Given the description of an element on the screen output the (x, y) to click on. 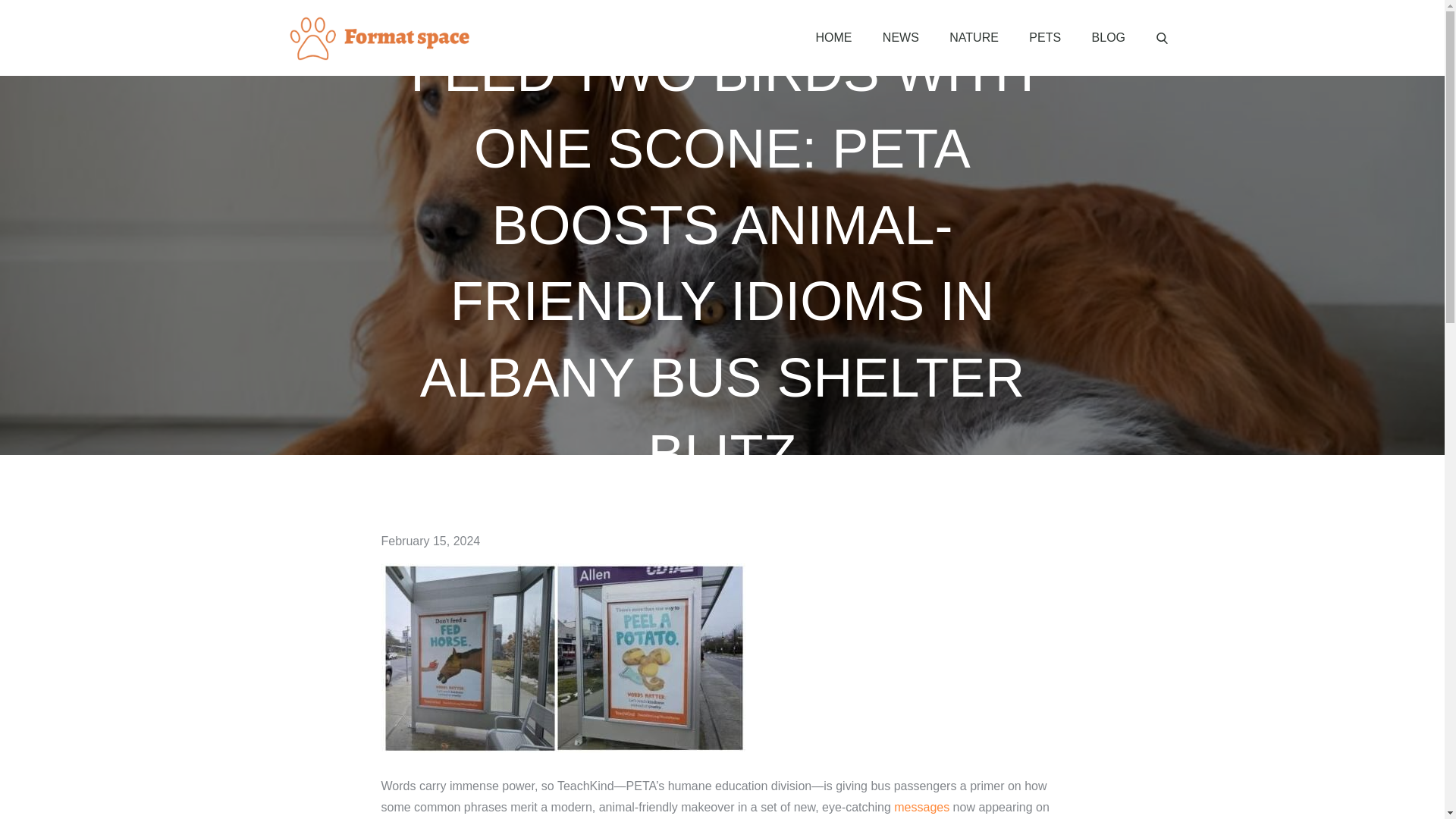
February 15, 2024 (430, 540)
NATURE (973, 38)
Format space (560, 52)
messages (921, 807)
